Given the description of an element on the screen output the (x, y) to click on. 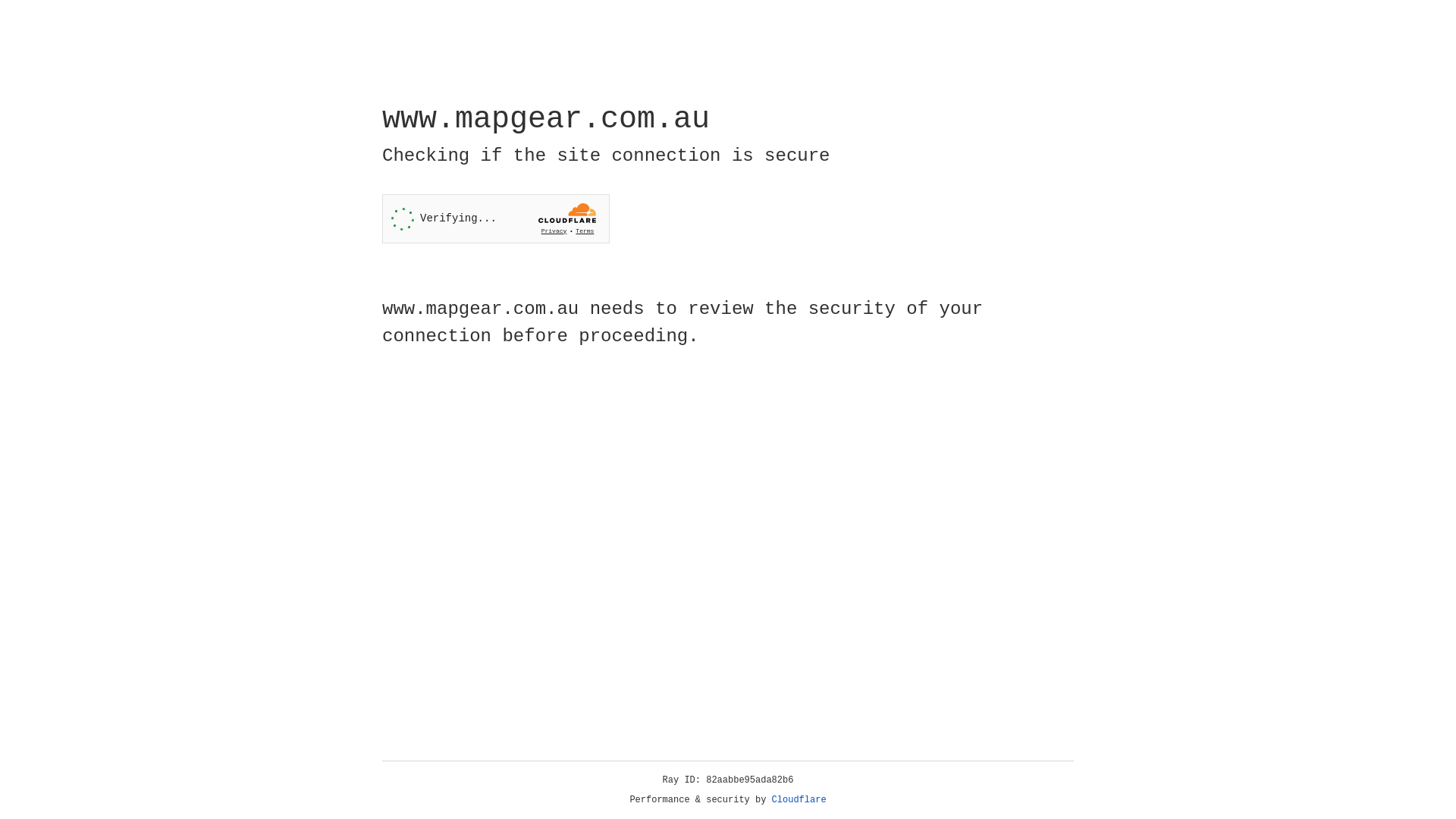
Widget containing a Cloudflare security challenge Element type: hover (495, 218)
Cloudflare Element type: text (798, 799)
